Given the description of an element on the screen output the (x, y) to click on. 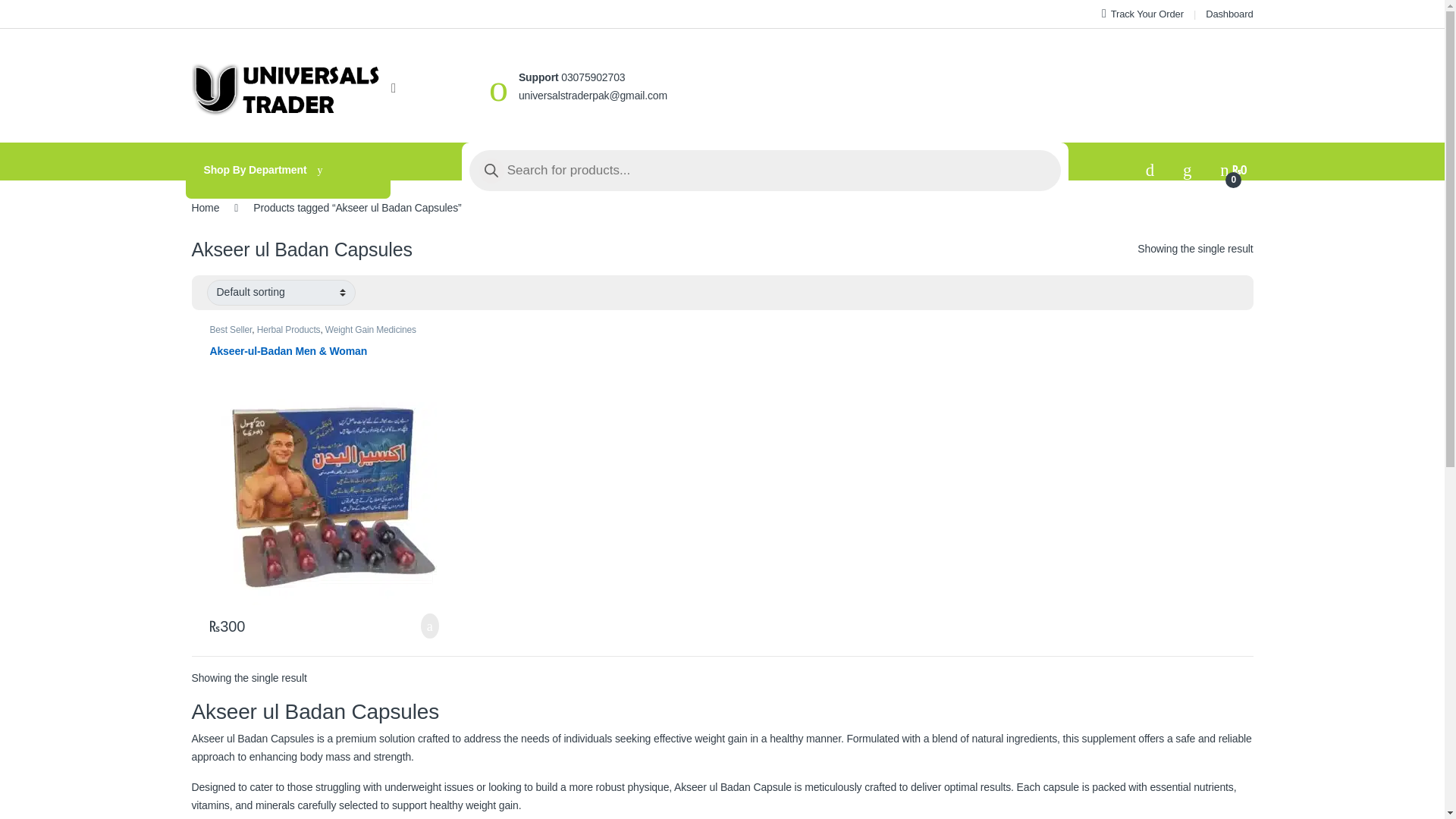
Shop By Department (287, 170)
Dashboard (1228, 13)
Home (204, 207)
Weight Gain Medicines (370, 329)
Dashboard (1228, 13)
Track Your Order (1142, 13)
Herbal Products (288, 329)
Track Your Order (1142, 13)
Best Seller (230, 329)
